Given the description of an element on the screen output the (x, y) to click on. 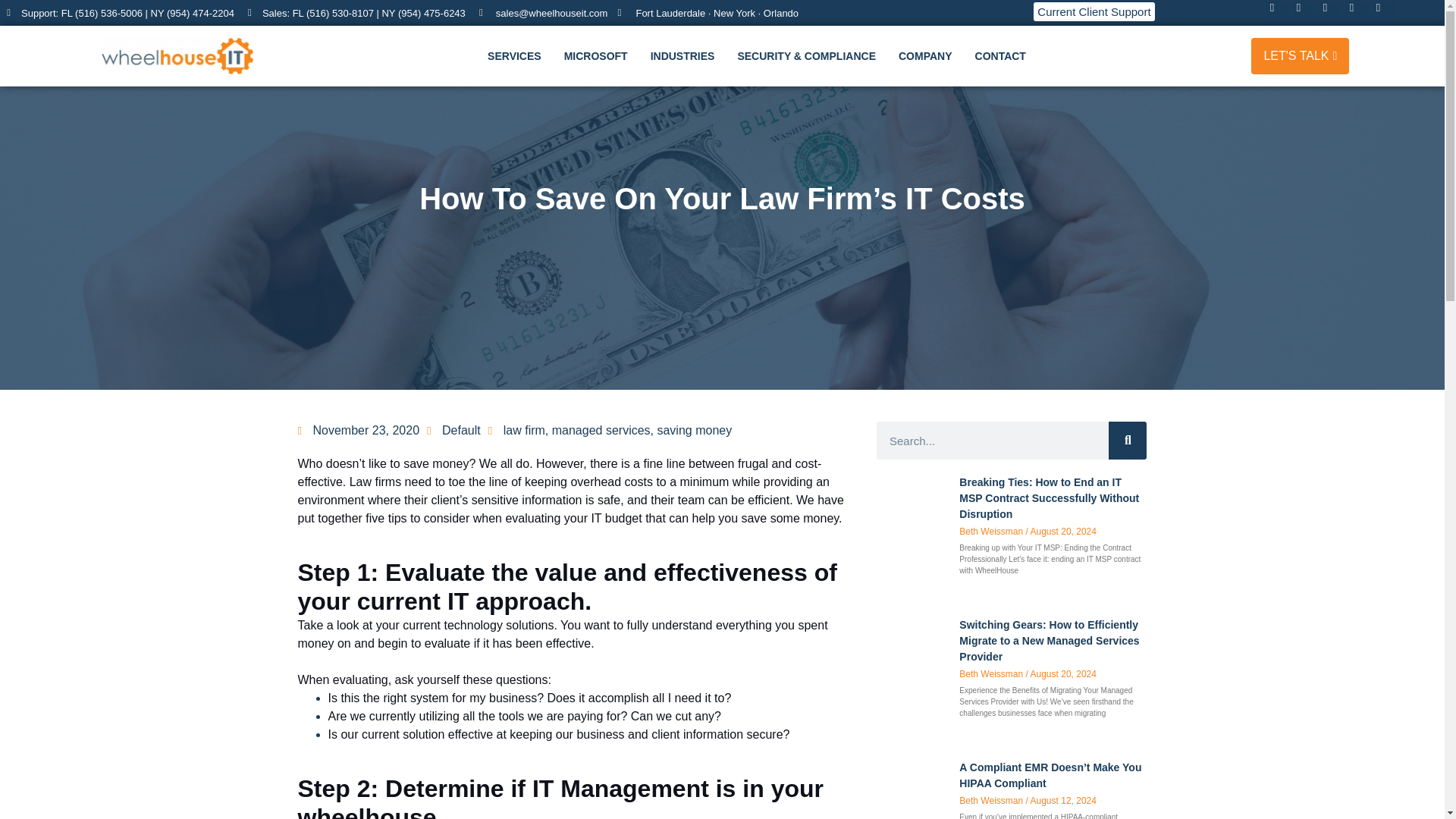
INDUSTRIES (686, 56)
Orlando (778, 12)
SERVICES (518, 56)
Current Client Support (1093, 11)
MICROSOFT (599, 56)
